Given the description of an element on the screen output the (x, y) to click on. 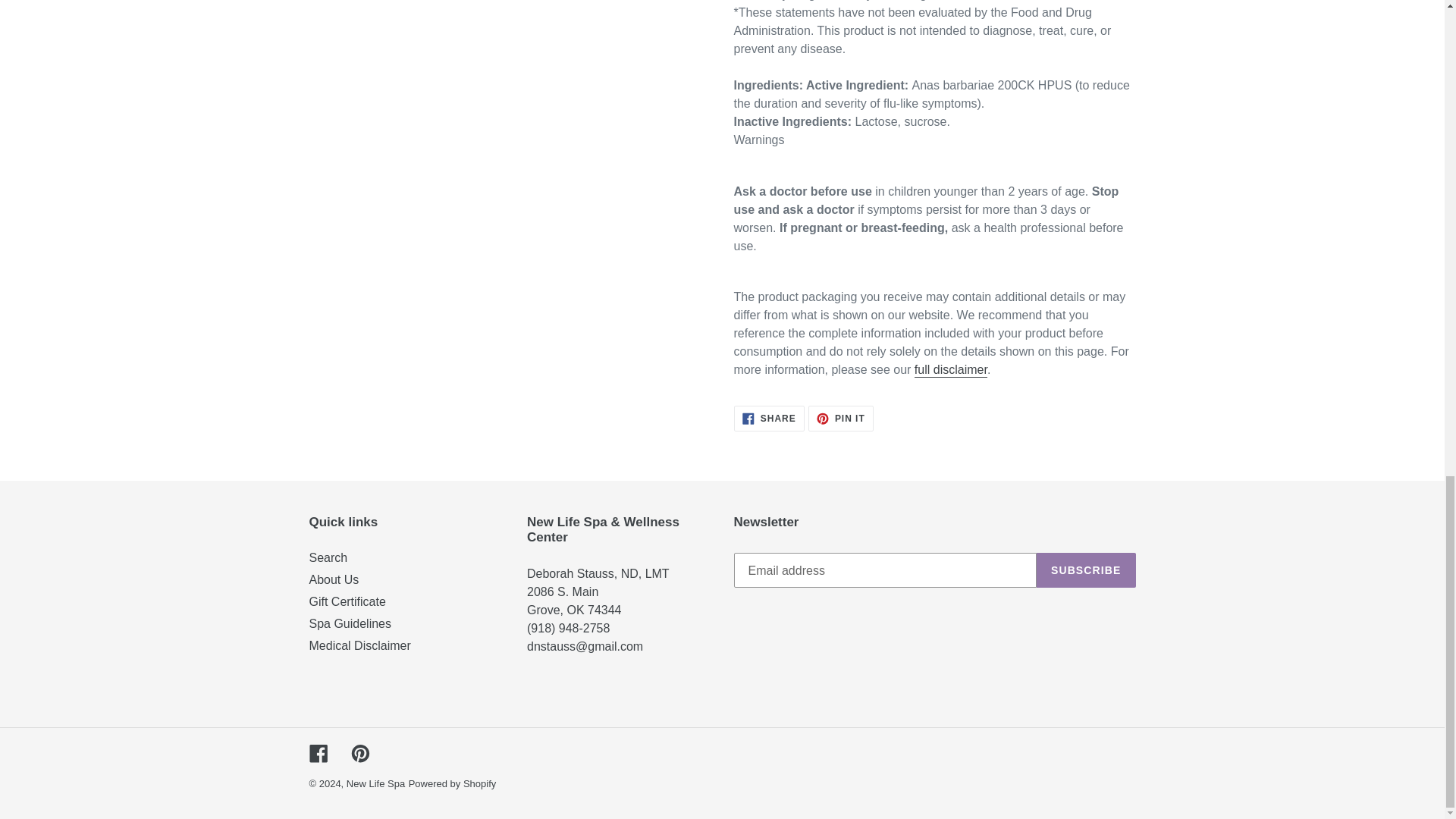
about us (568, 627)
about us (562, 591)
about us (585, 645)
about us (575, 609)
about us (598, 573)
